Given the description of an element on the screen output the (x, y) to click on. 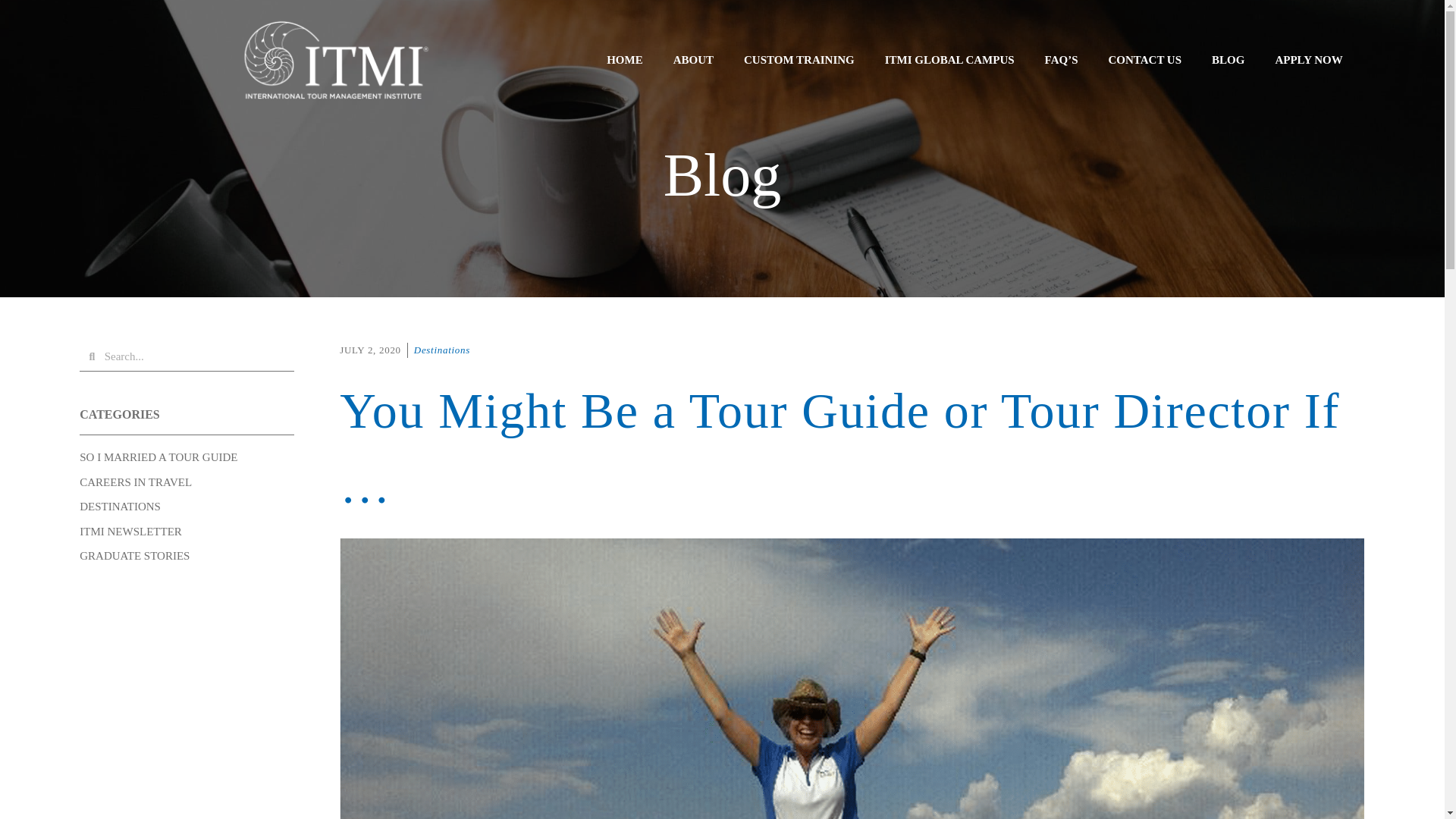
ITMI GLOBAL CAMPUS (949, 59)
ABOUT (693, 59)
CUSTOM TRAINING (799, 59)
CONTACT US (1144, 59)
APPLY NOW (1307, 59)
